Given the description of an element on the screen output the (x, y) to click on. 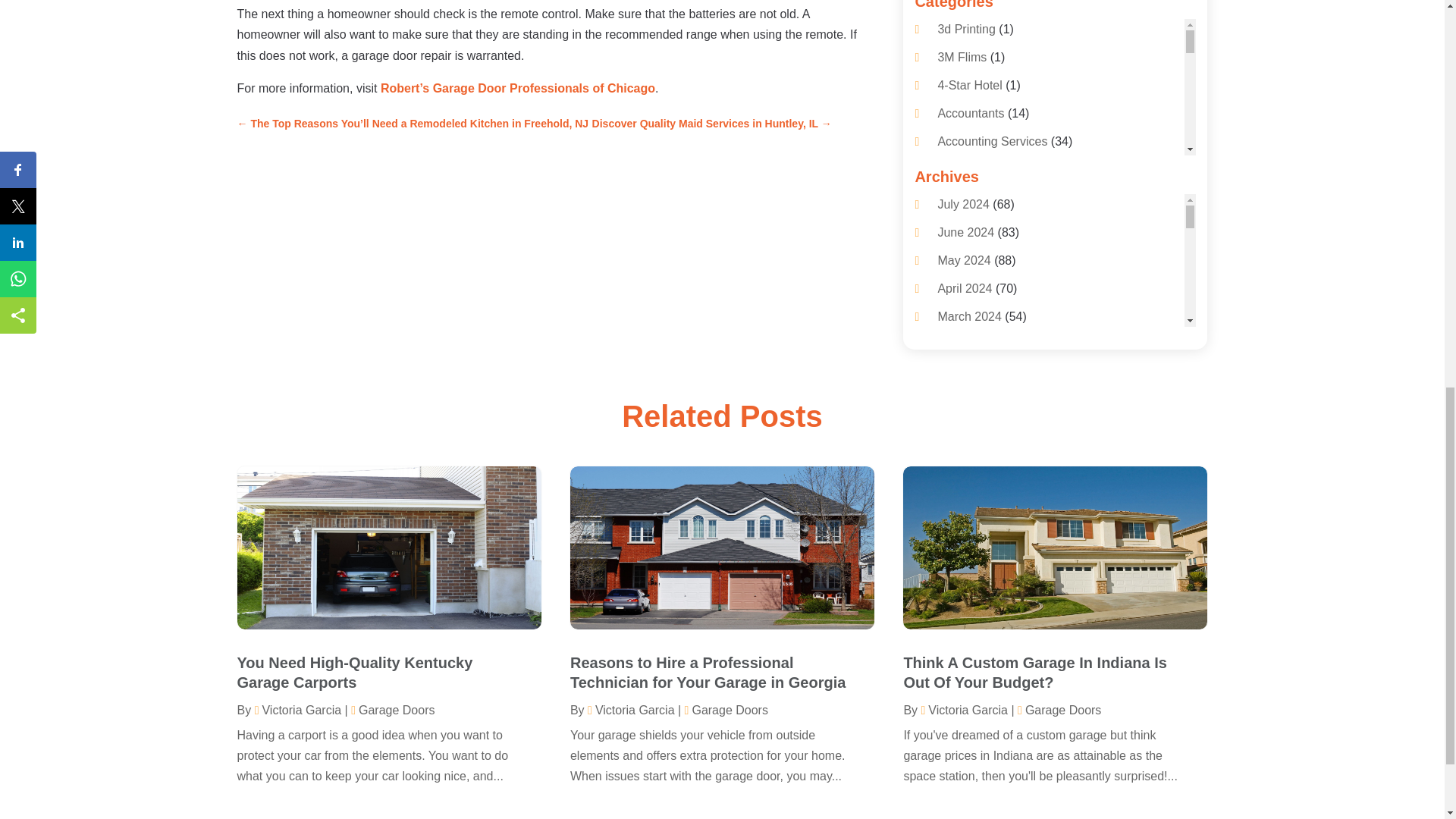
Posts by Victoria Garcia (631, 709)
Acupuncture (971, 169)
4-Star Hotel (969, 84)
Addiction Treatment Center (1010, 197)
Accounting Services (991, 141)
3M Flims (962, 56)
Posts by Victoria Garcia (963, 709)
3d Printing (966, 29)
Adoption (961, 226)
Adventures (967, 282)
Agencies (962, 367)
Accountants (970, 113)
Adult Care (965, 254)
Posts by Victoria Garcia (297, 709)
Advertising Agency (989, 338)
